Given the description of an element on the screen output the (x, y) to click on. 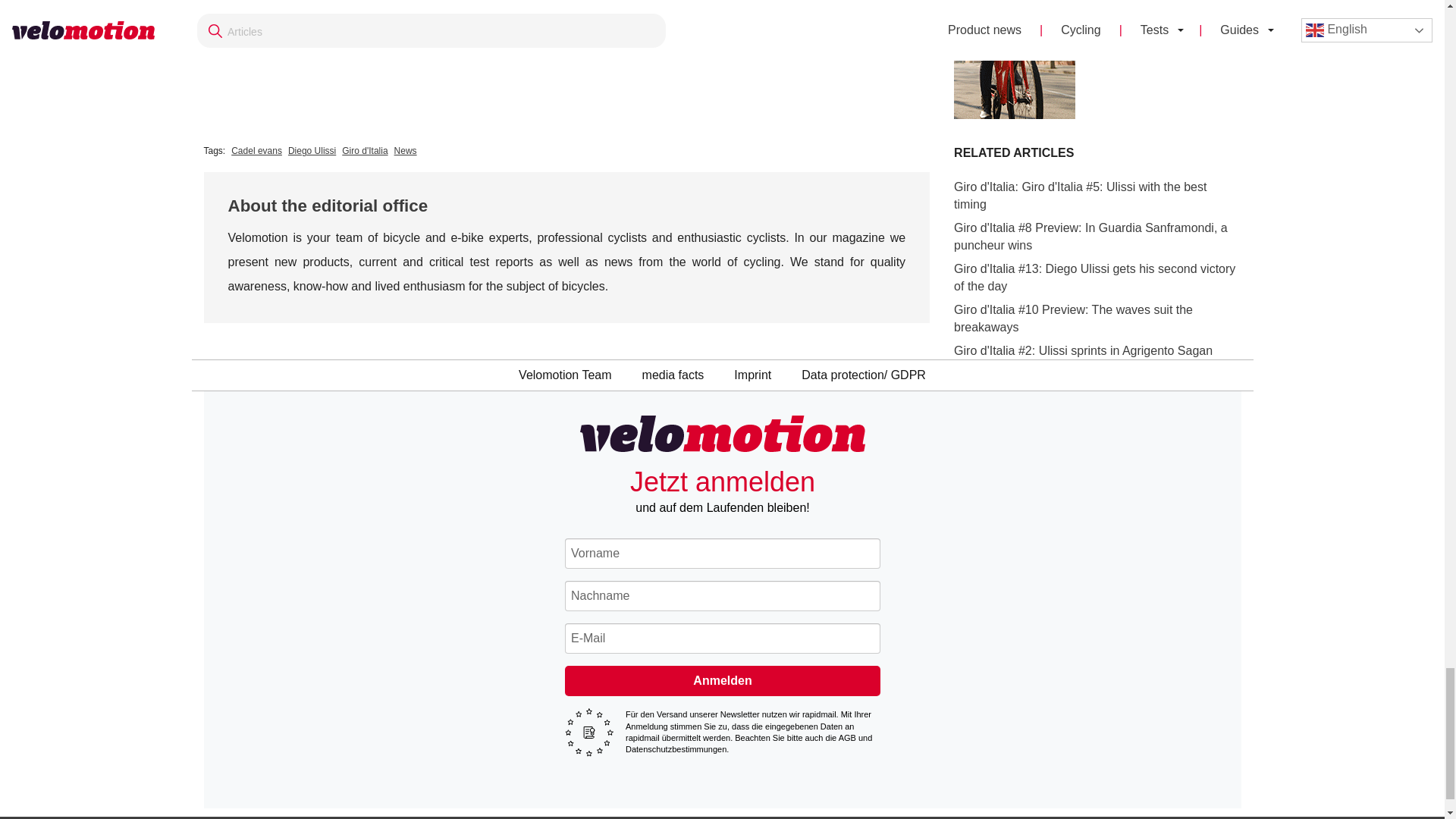
Cadel evans (256, 150)
